Given the description of an element on the screen output the (x, y) to click on. 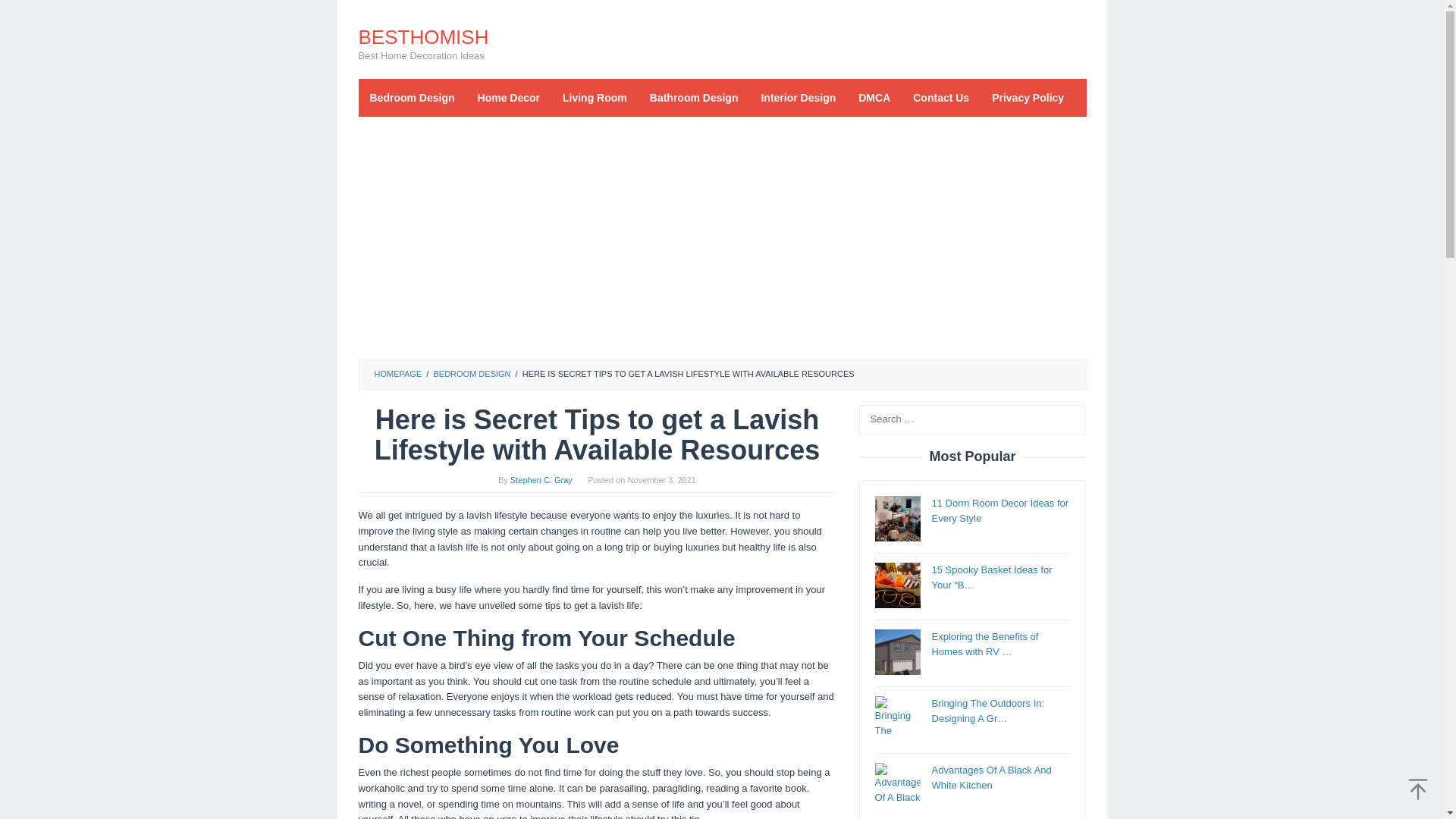
Advantages Of A Black And White Kitchen (991, 777)
Living Room (595, 97)
Contact Us (940, 97)
Permalink to: Stephen C. Gray (541, 479)
BEDROOM DESIGN (471, 373)
Bedroom Design (411, 97)
DMCA (874, 97)
BESTHOMISH (422, 36)
HOMEPAGE (398, 373)
11 Dorm Room Decor Ideas for Every Style (999, 510)
